Given the description of an element on the screen output the (x, y) to click on. 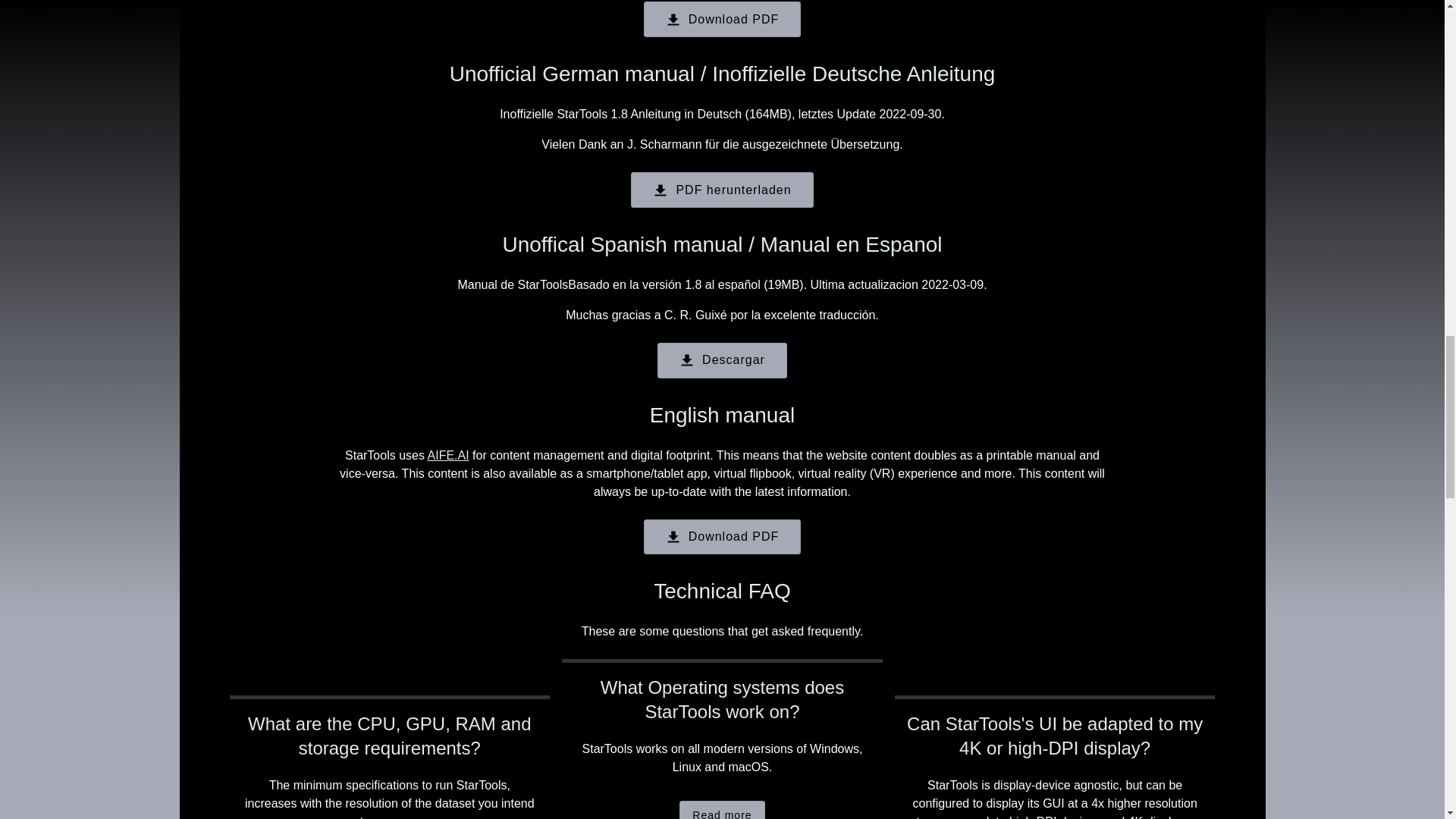
What Operating systems does StarTools work on? (722, 698)
Read more (721, 809)
What are the CPU, GPU, RAM and storage requirements? (389, 735)
PDF herunterladen (721, 189)
Can StarTools's UI be adapted to my 4K or high-DPI display? (1055, 735)
Download PDF (722, 18)
AIFE.AI (448, 454)
Download PDF (722, 537)
Descargar (722, 360)
Technical FAQ (721, 590)
English manual (721, 414)
